Given the description of an element on the screen output the (x, y) to click on. 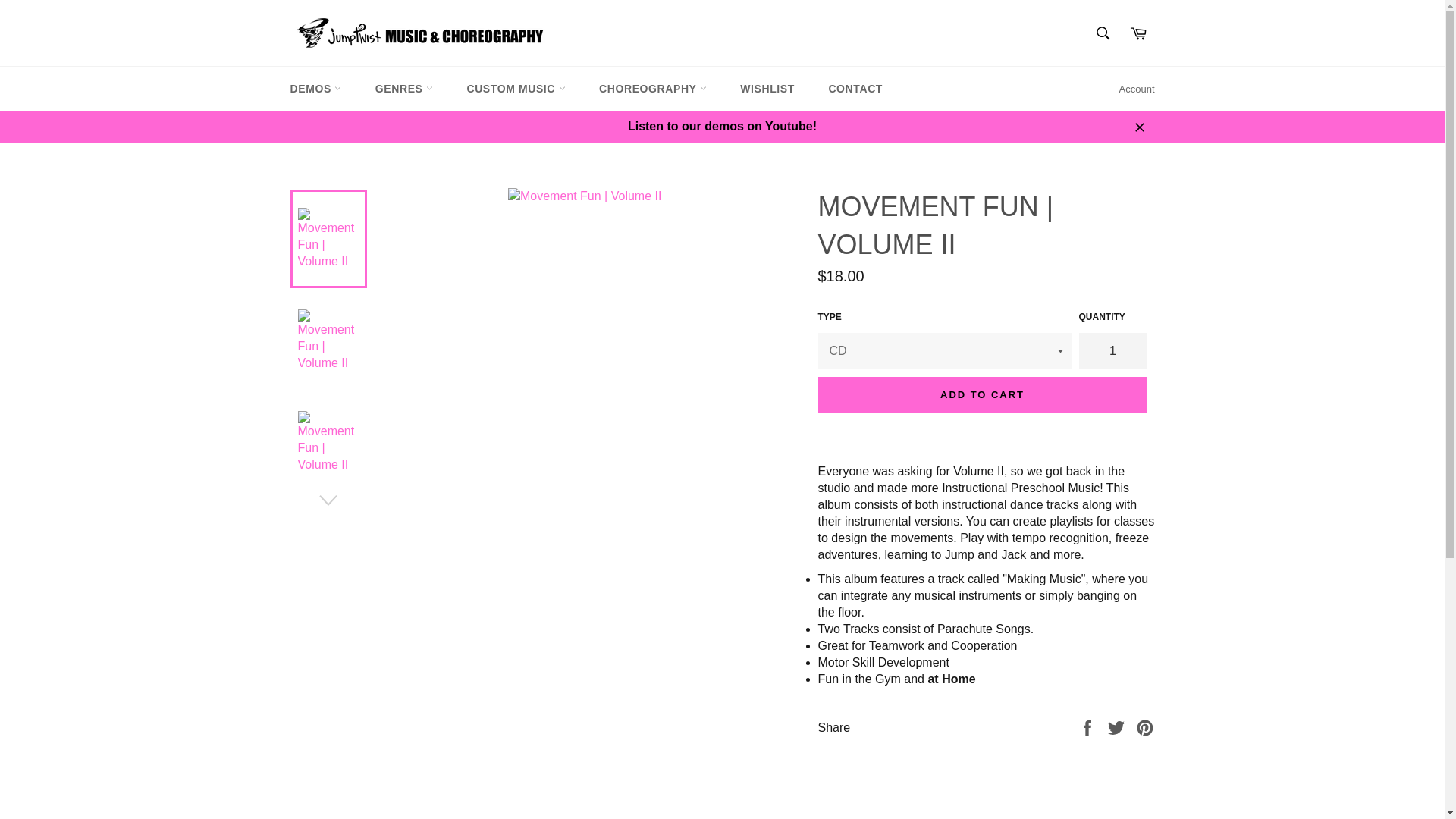
Share on Facebook (1088, 726)
1 (1112, 350)
Pin on Pinterest (1144, 726)
Tweet on Twitter (1117, 726)
